Given the description of an element on the screen output the (x, y) to click on. 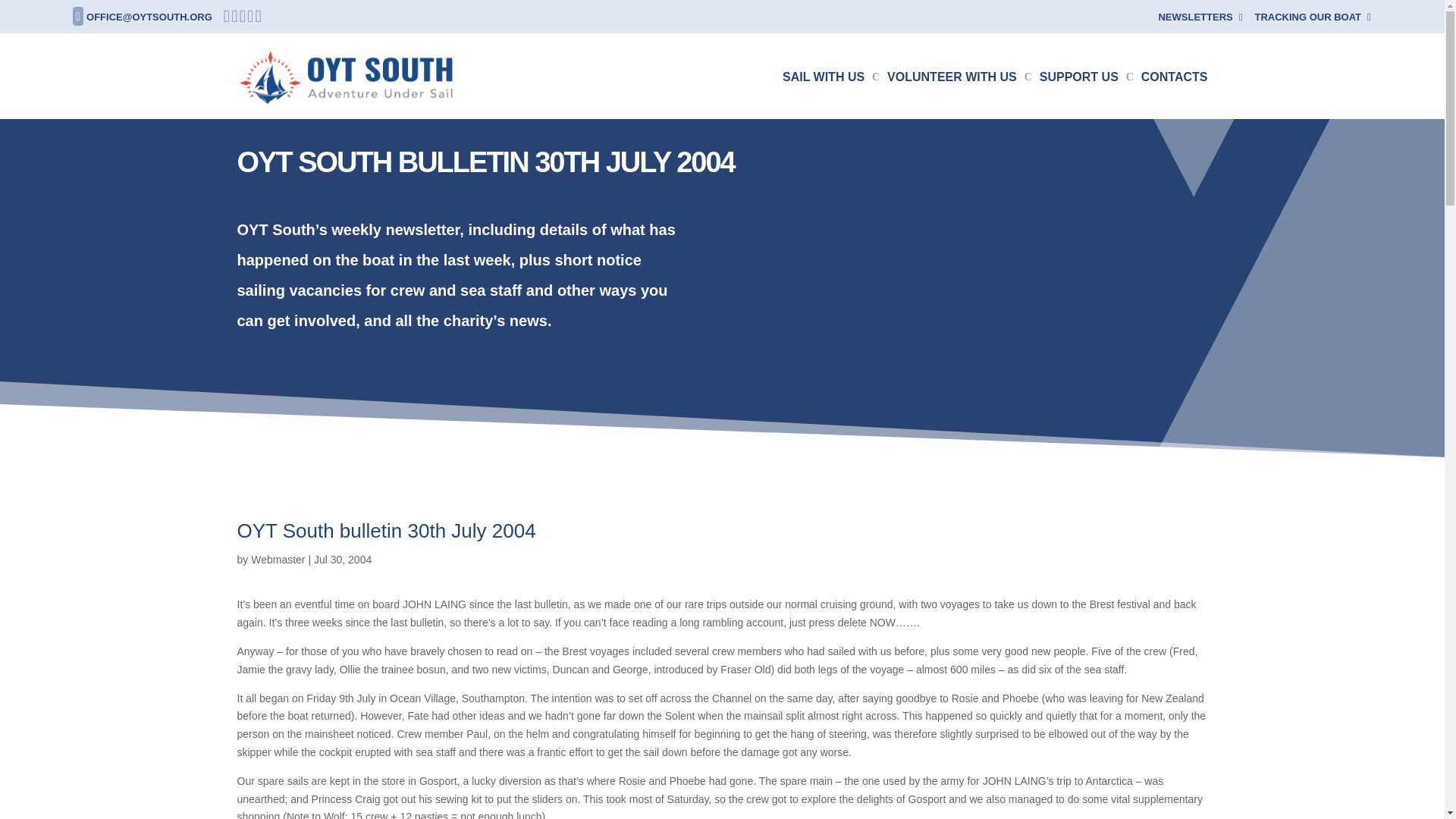
SAIL WITH US (831, 95)
TRACKING OUR BOAT (1312, 20)
VOLUNTEER WITH US (959, 95)
Posts by Webmaster (277, 559)
NEWSLETTERS (1200, 20)
